Given the description of an element on the screen output the (x, y) to click on. 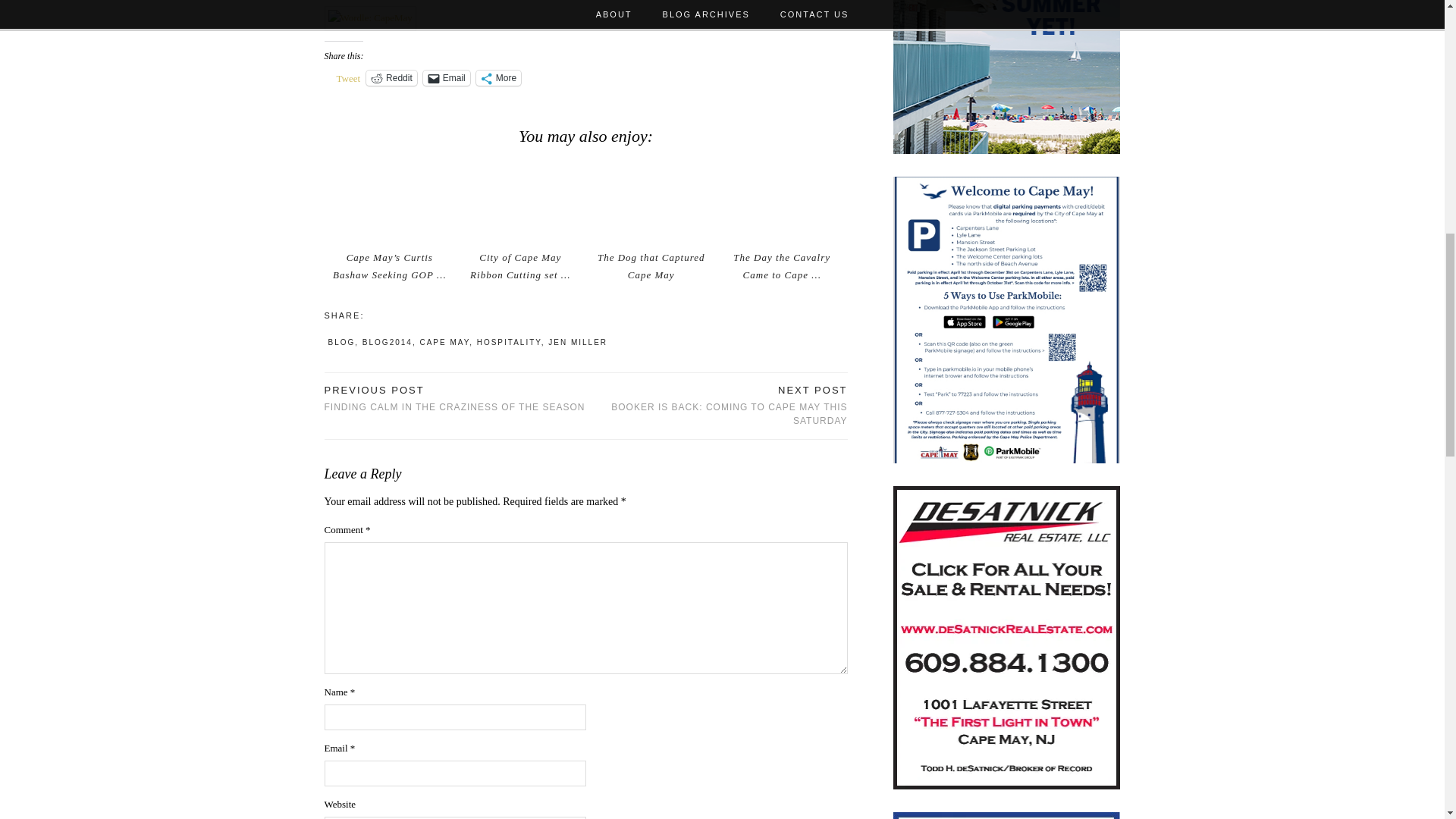
Click to email a link to a friend (446, 77)
More (498, 77)
The Dog that Captured Cape May (650, 265)
HOSPITALITY (509, 342)
Wordle: CapeMay (370, 17)
CAPE MAY (454, 399)
Email (716, 405)
BLOG2014 (443, 342)
